Given the description of an element on the screen output the (x, y) to click on. 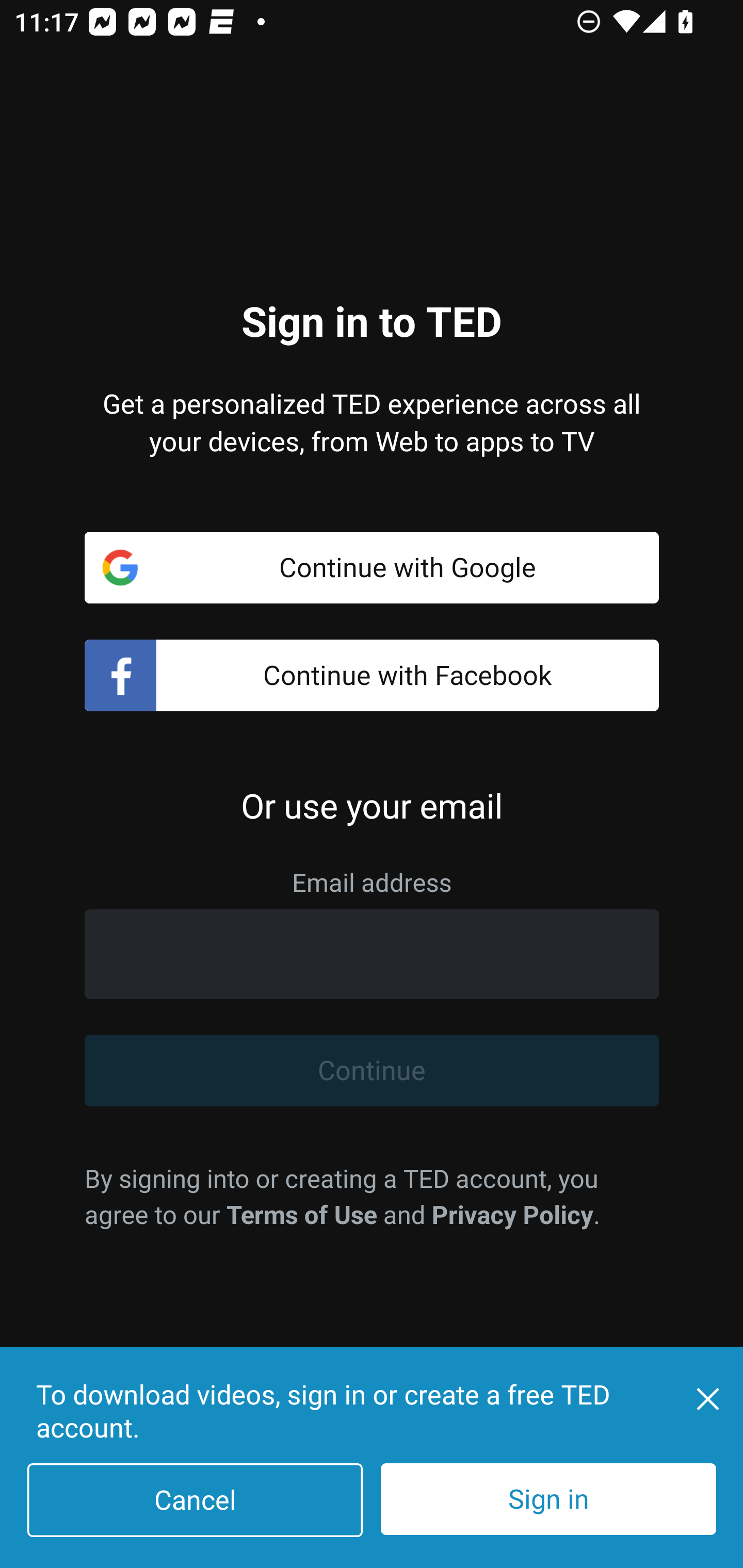
Continue with Google (371, 567)
Continue with Facebook (371, 675)
Continue (371, 1070)
Cancel (194, 1499)
Sign in (548, 1498)
